Given the description of an element on the screen output the (x, y) to click on. 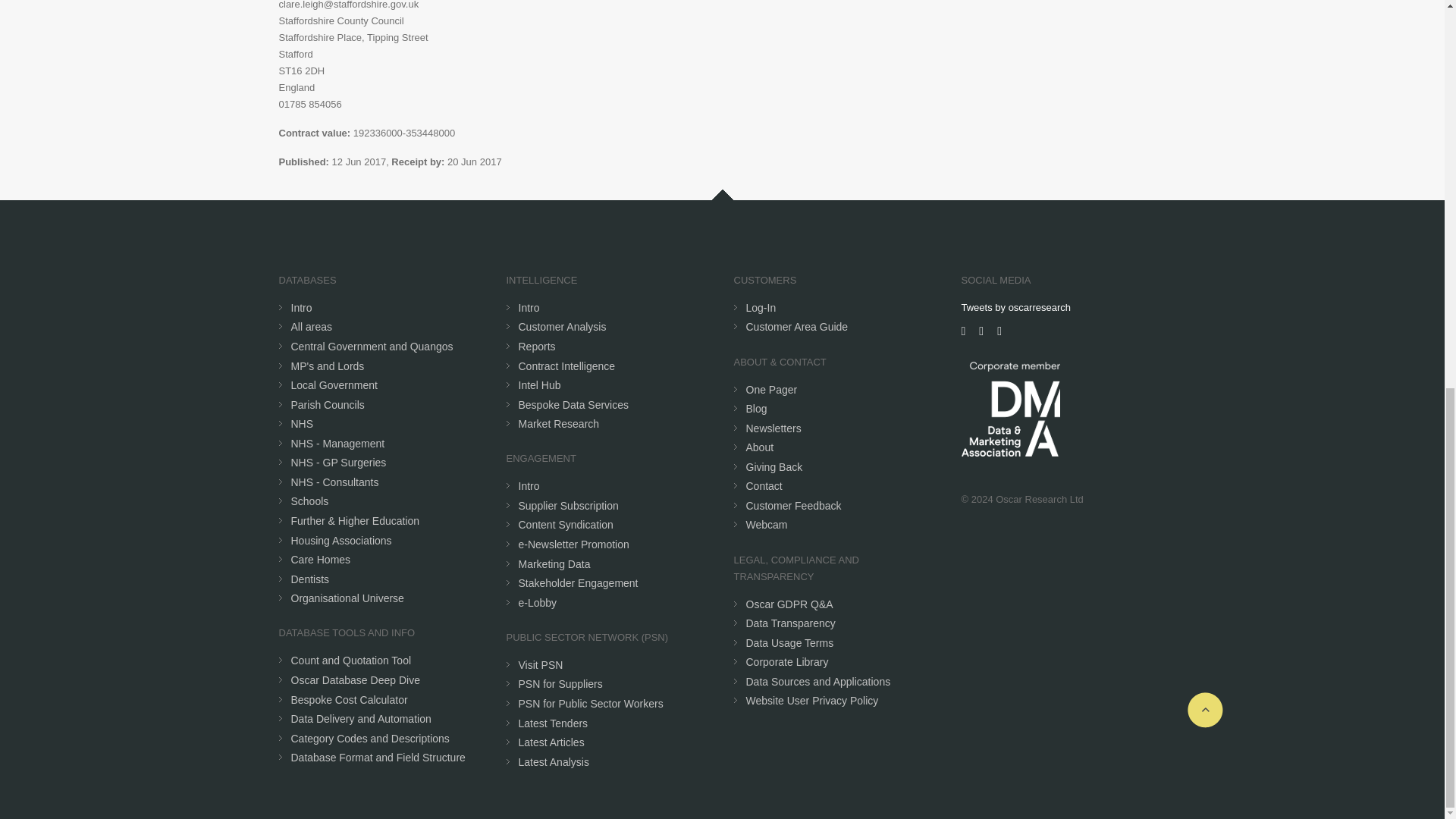
NHS - Management (338, 443)
MP's and Lords (328, 366)
Central Government and Quangos (371, 346)
NHS (302, 423)
All areas (311, 326)
Intro (302, 307)
NHS - Consultants (334, 481)
Parish Councils (328, 404)
NHS - GP Surgeries (339, 462)
Local Government (334, 385)
